Given the description of an element on the screen output the (x, y) to click on. 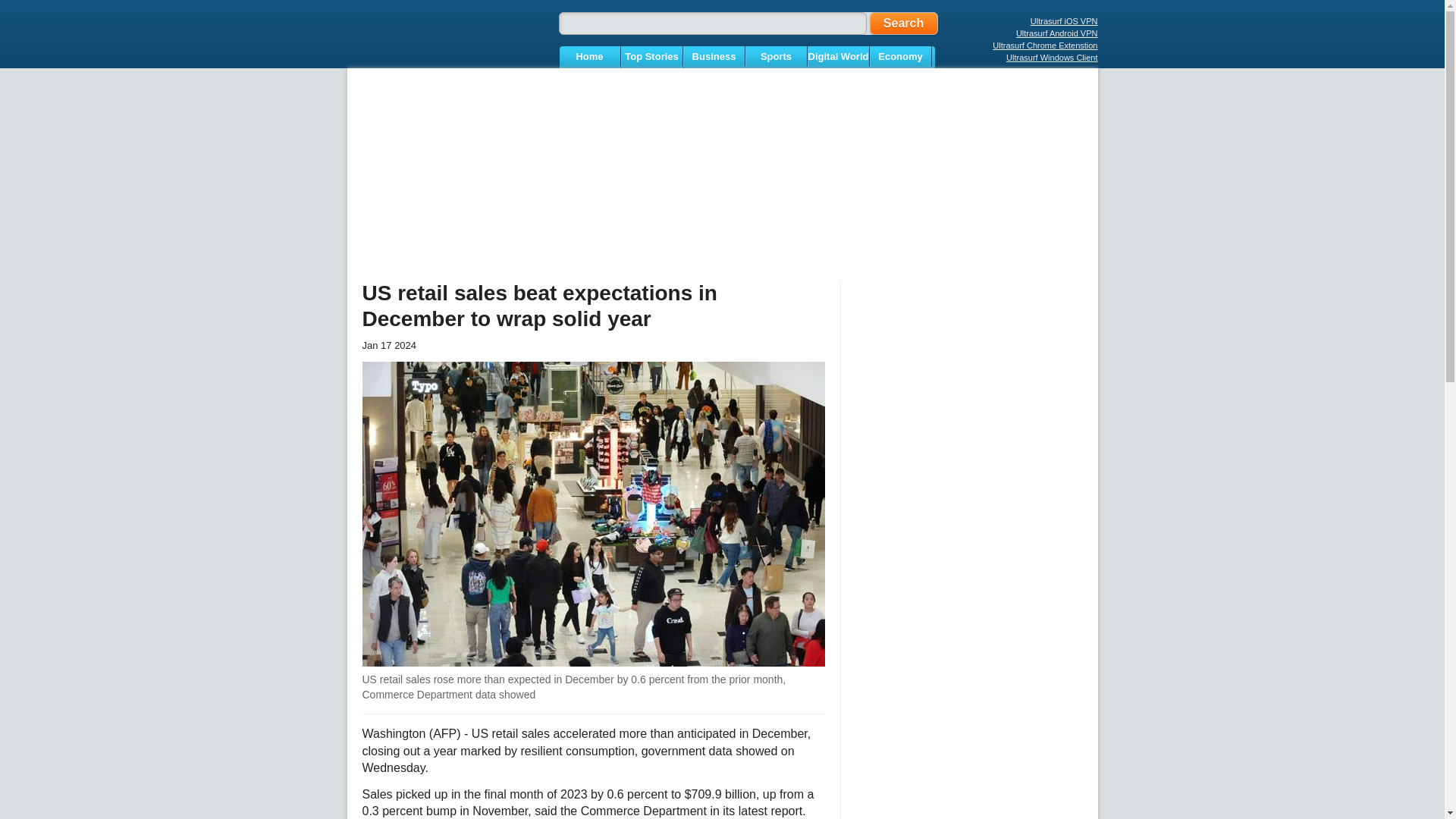
Ultrasurf Windows Client (1051, 57)
Ultrasurf Chrome Extenstion (1044, 44)
Search (903, 23)
Ultrasurf iOS VPN for iPhone and iPad (1063, 20)
Privacy (589, 76)
Ultrasurf (442, 41)
Business (714, 55)
Ultrasurf Windows Client (1051, 57)
Ultrasurf iOS VPN (1063, 20)
Digital World (838, 55)
Search (903, 23)
Ultrasurf Android VPN (1056, 32)
Terms (651, 76)
Economy (900, 55)
Ultrasurf Chrome Extension (1044, 44)
